Given the description of an element on the screen output the (x, y) to click on. 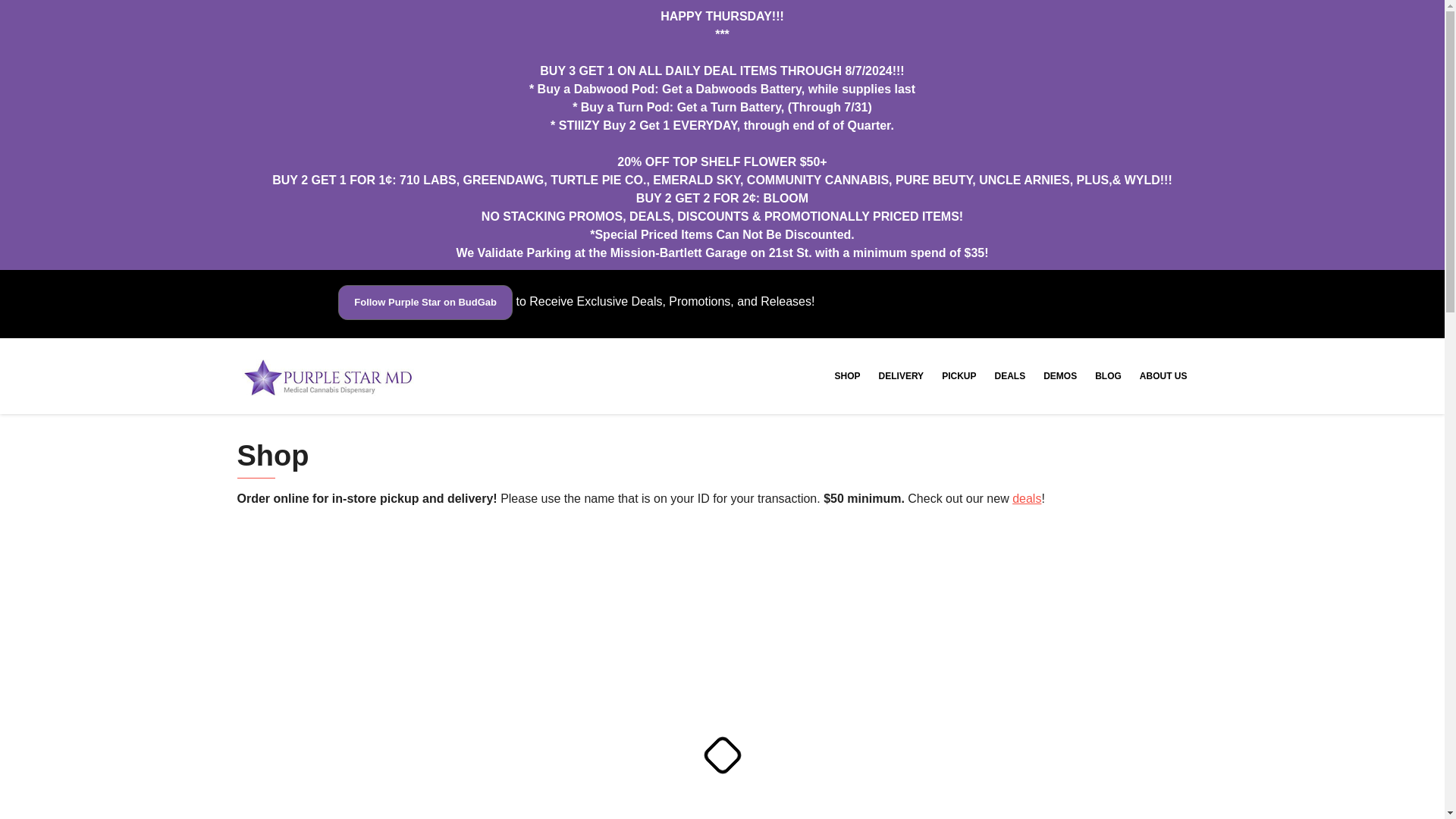
Skip to main content (11, 11)
ABOUT US (1163, 376)
SHOP (847, 376)
PICKUP (959, 376)
BLOG (1108, 376)
DELIVERY (901, 376)
deals (1026, 498)
DEMOS (1059, 376)
Follow Purple Star on BudGab (424, 302)
DEALS (1009, 376)
